Given the description of an element on the screen output the (x, y) to click on. 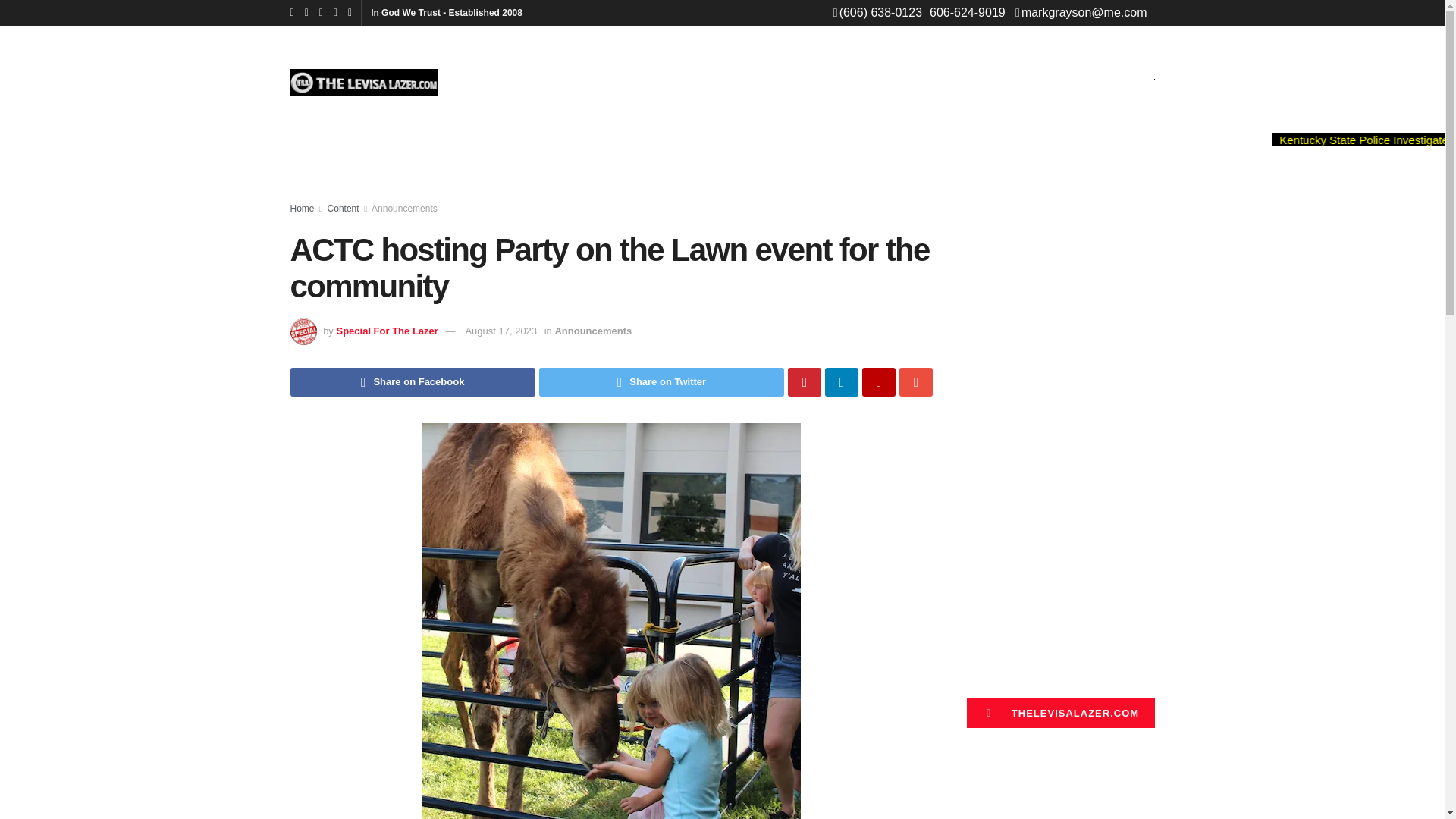
606-624-9019 (968, 11)
OBITUARIES (931, 78)
COURTHOUSE (816, 78)
LIFESTYLES (702, 78)
SPORTS NEWS (586, 78)
NEWS (491, 78)
